Given the description of an element on the screen output the (x, y) to click on. 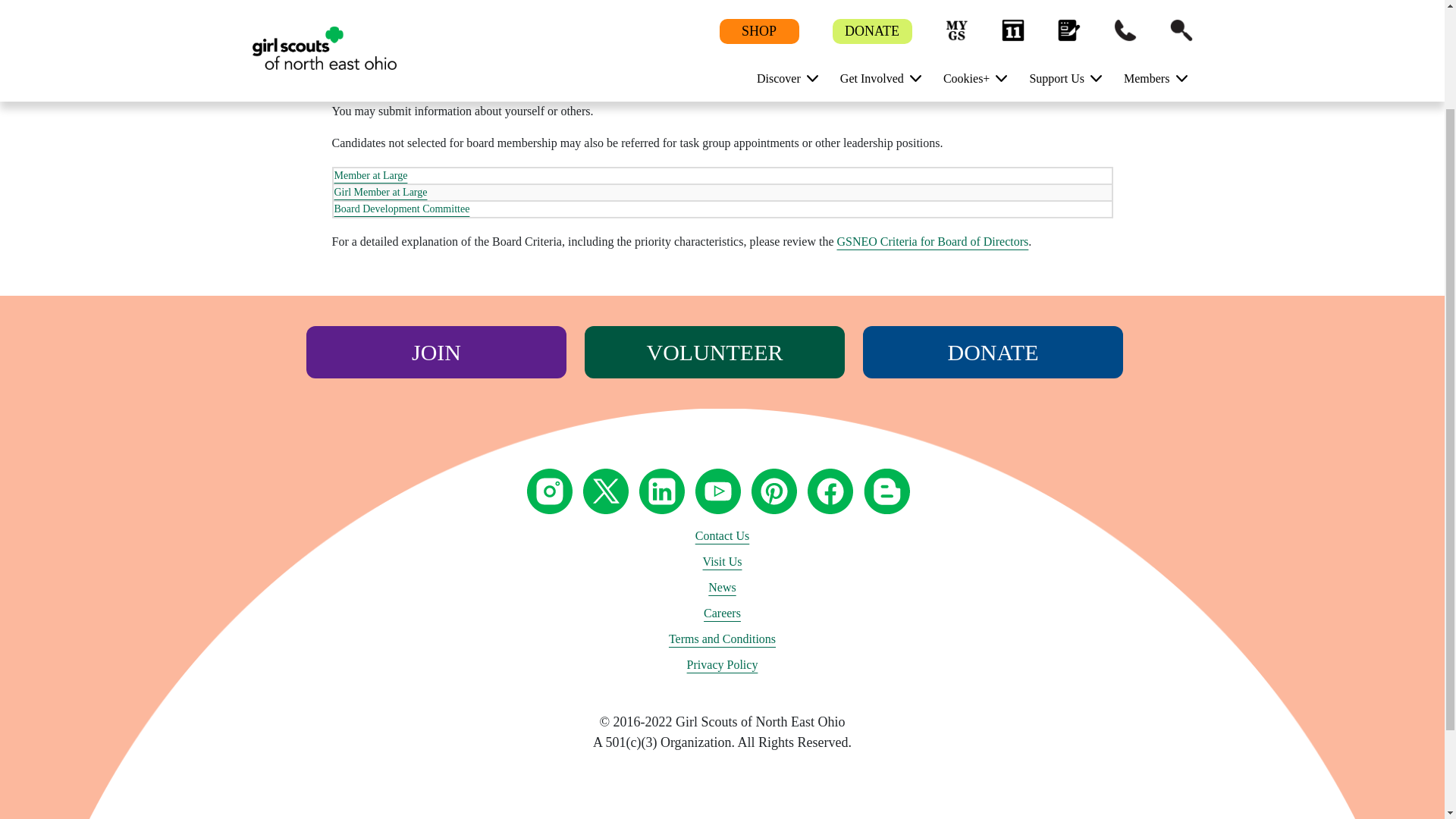
LiveChat chat widget (1336, 657)
